Given the description of an element on the screen output the (x, y) to click on. 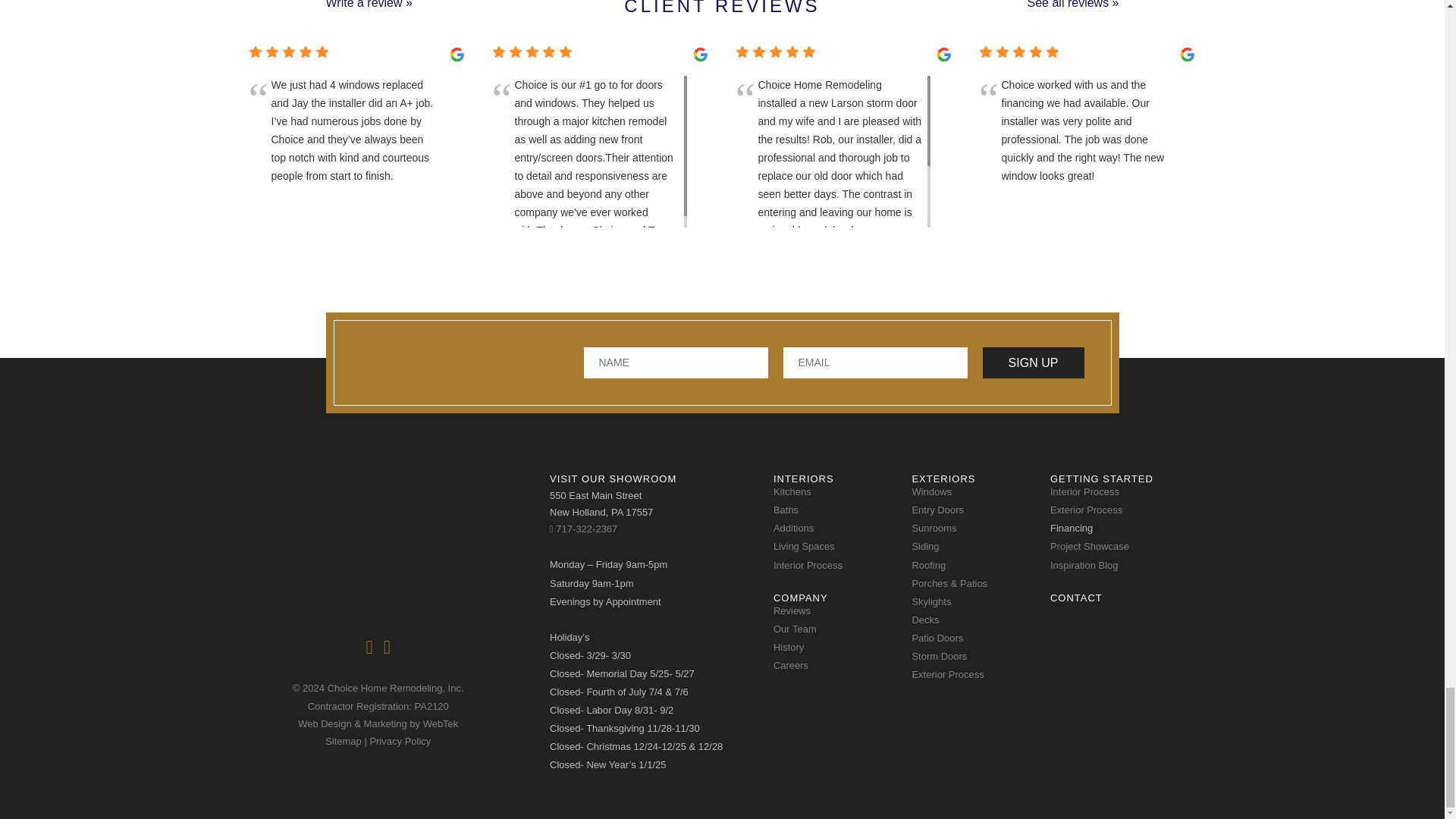
Sign Up (1033, 362)
